Given the description of an element on the screen output the (x, y) to click on. 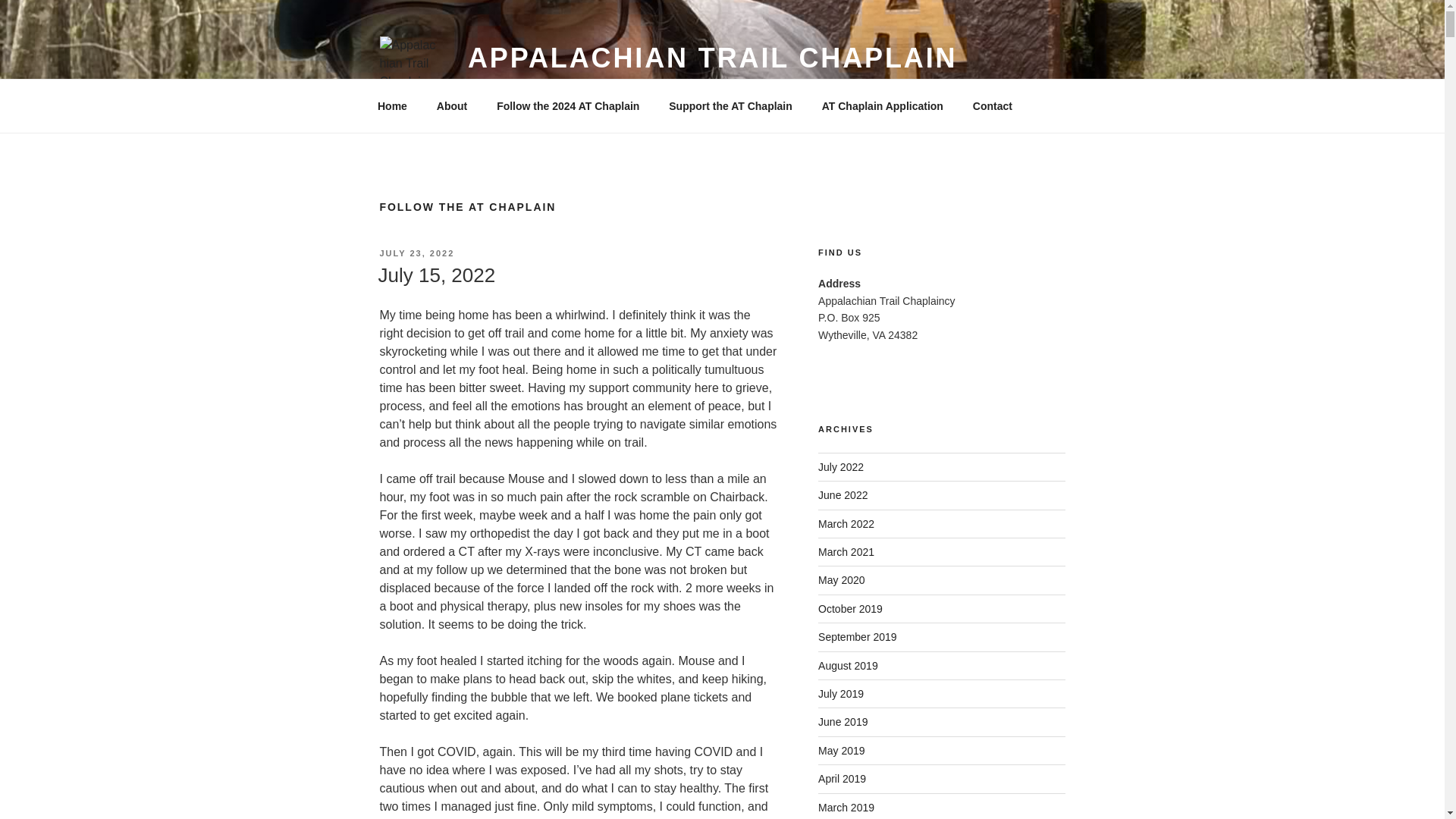
March 2022 (846, 523)
Contact (992, 106)
About (451, 106)
June 2022 (842, 494)
May 2020 (841, 580)
March 2021 (846, 551)
Follow the 2024 AT Chaplain (567, 106)
October 2019 (850, 608)
Home (392, 106)
Support the AT Chaplain (731, 106)
